Given the description of an element on the screen output the (x, y) to click on. 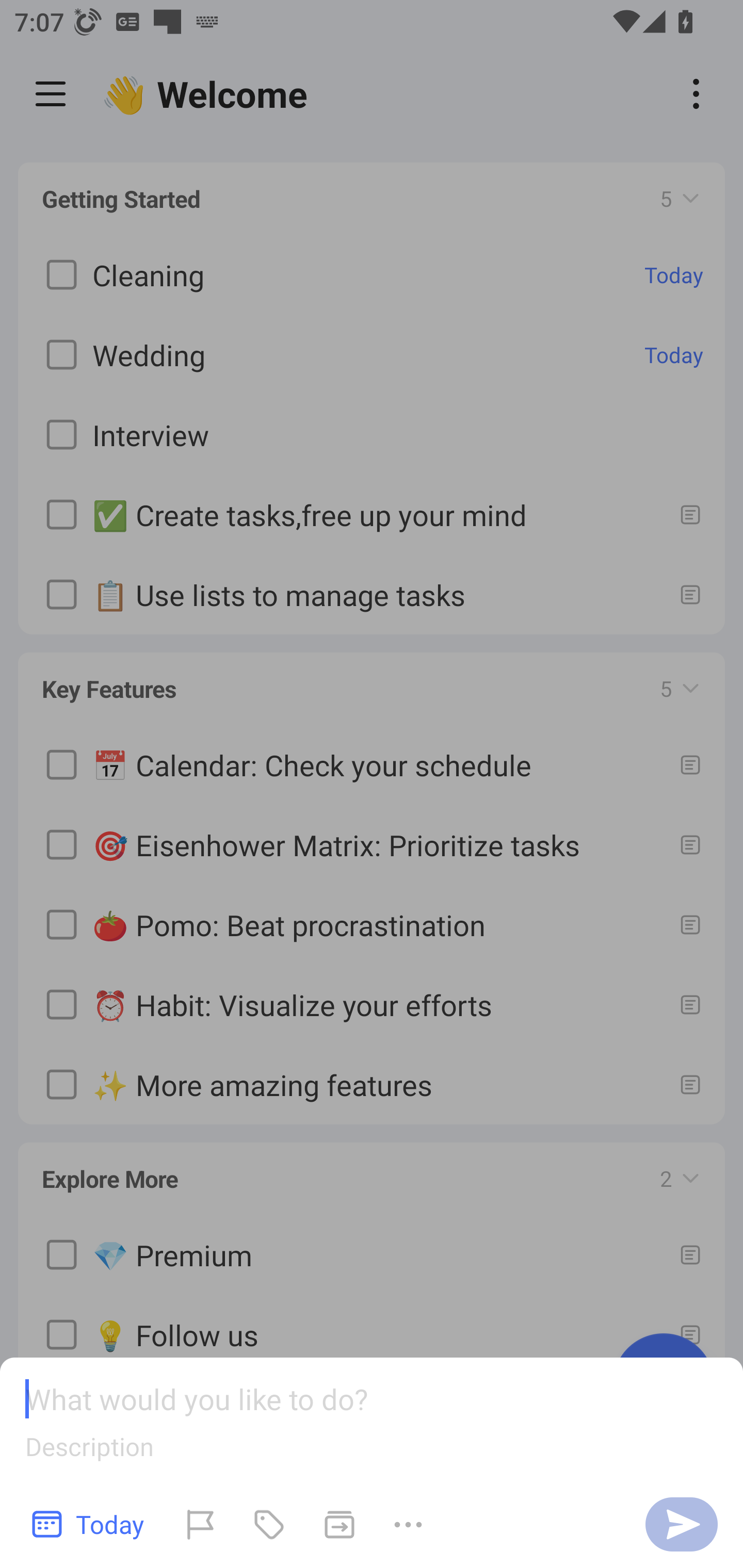
What would you like to do? Description Today (371, 1462)
Today (88, 1523)
